Given the description of an element on the screen output the (x, y) to click on. 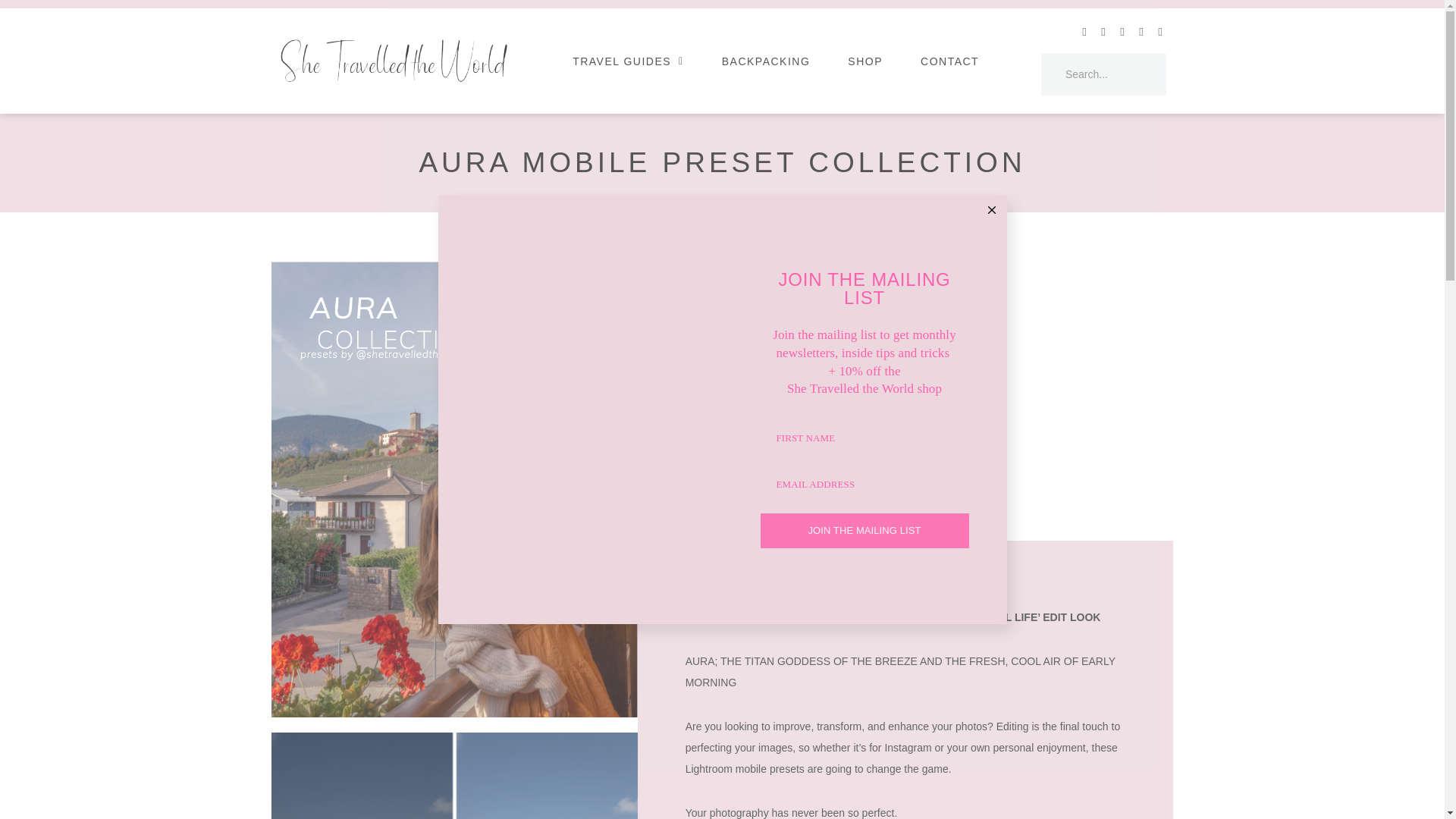
TRAVEL GUIDES (628, 60)
BACKPACKING (766, 60)
SHOP (864, 60)
CONTACT (949, 60)
